Given the description of an element on the screen output the (x, y) to click on. 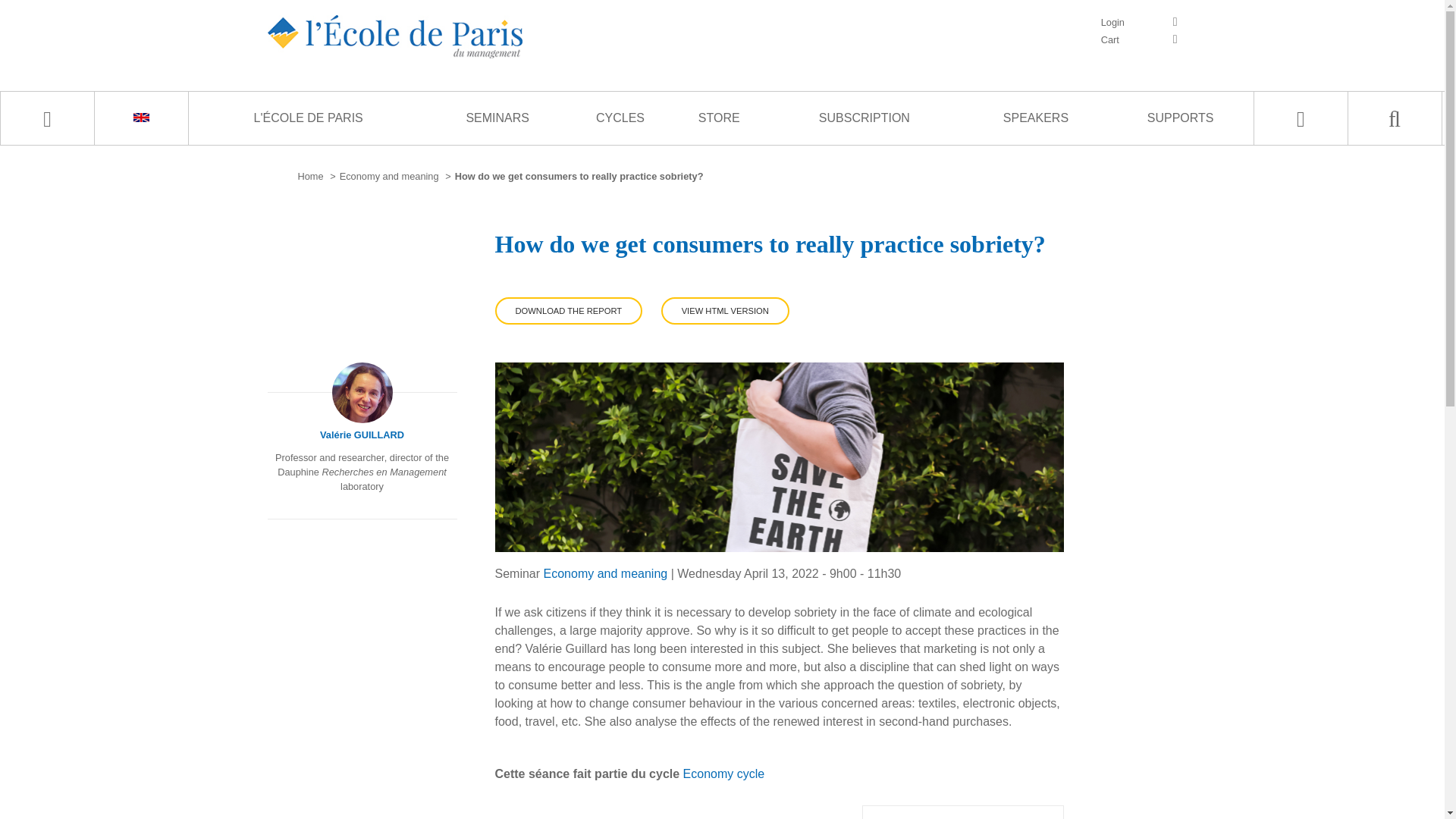
SUPPORTS (1180, 117)
Cart (1138, 38)
STORE (718, 117)
SEMINARS (497, 117)
SUBSCRIPTION (864, 117)
CYCLES (620, 117)
SPEAKERS (1035, 117)
